Given the description of an element on the screen output the (x, y) to click on. 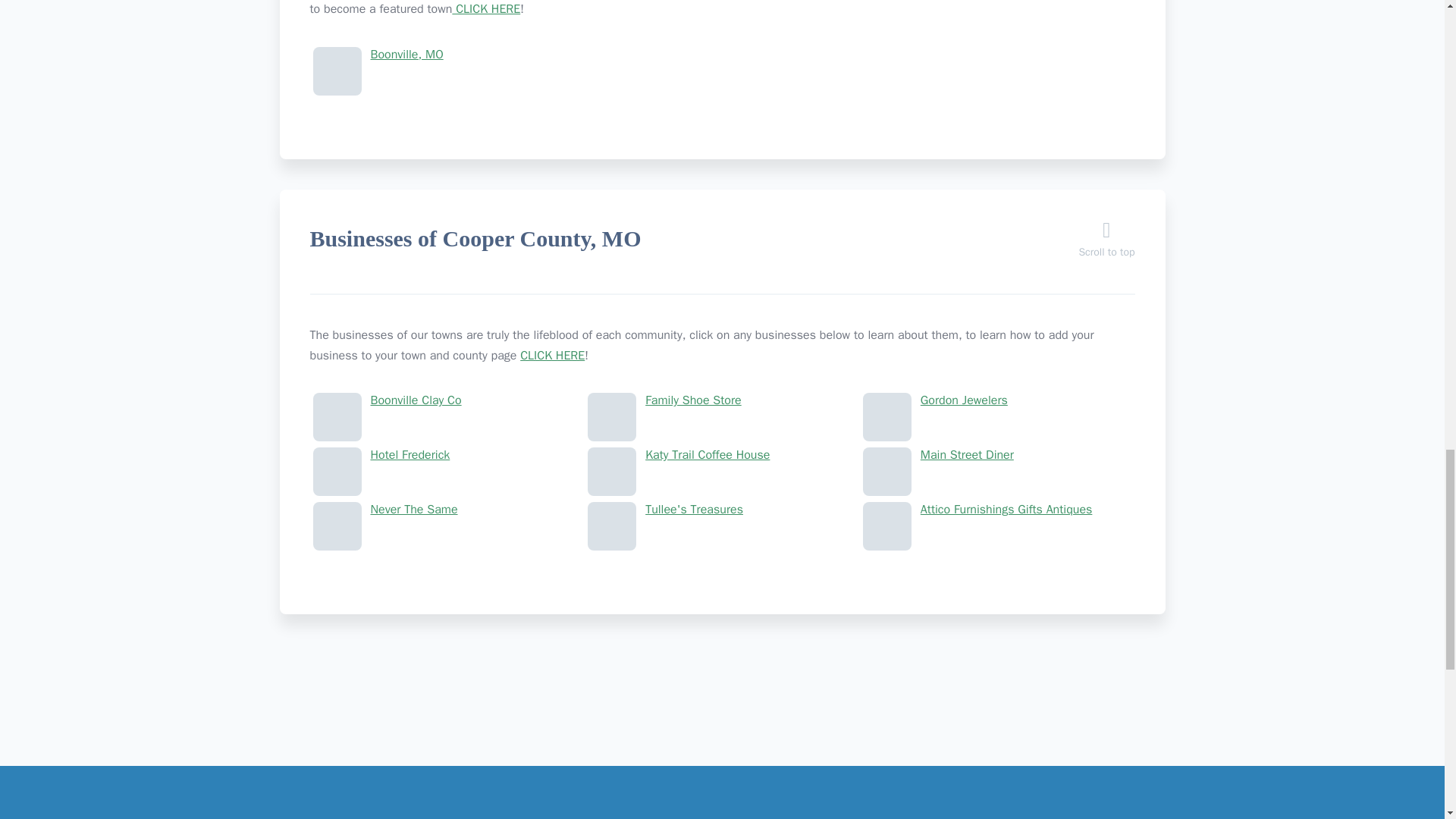
Boonville Clay Co (446, 400)
Family Shoe Store (722, 400)
Scroll to top (1106, 244)
CLICK HERE (552, 355)
CLICK HERE (485, 8)
Scroll to top of page (1106, 244)
Boonville, MO (446, 54)
Gordon Jewelers (997, 400)
Hotel Frederick (446, 454)
